Given the description of an element on the screen output the (x, y) to click on. 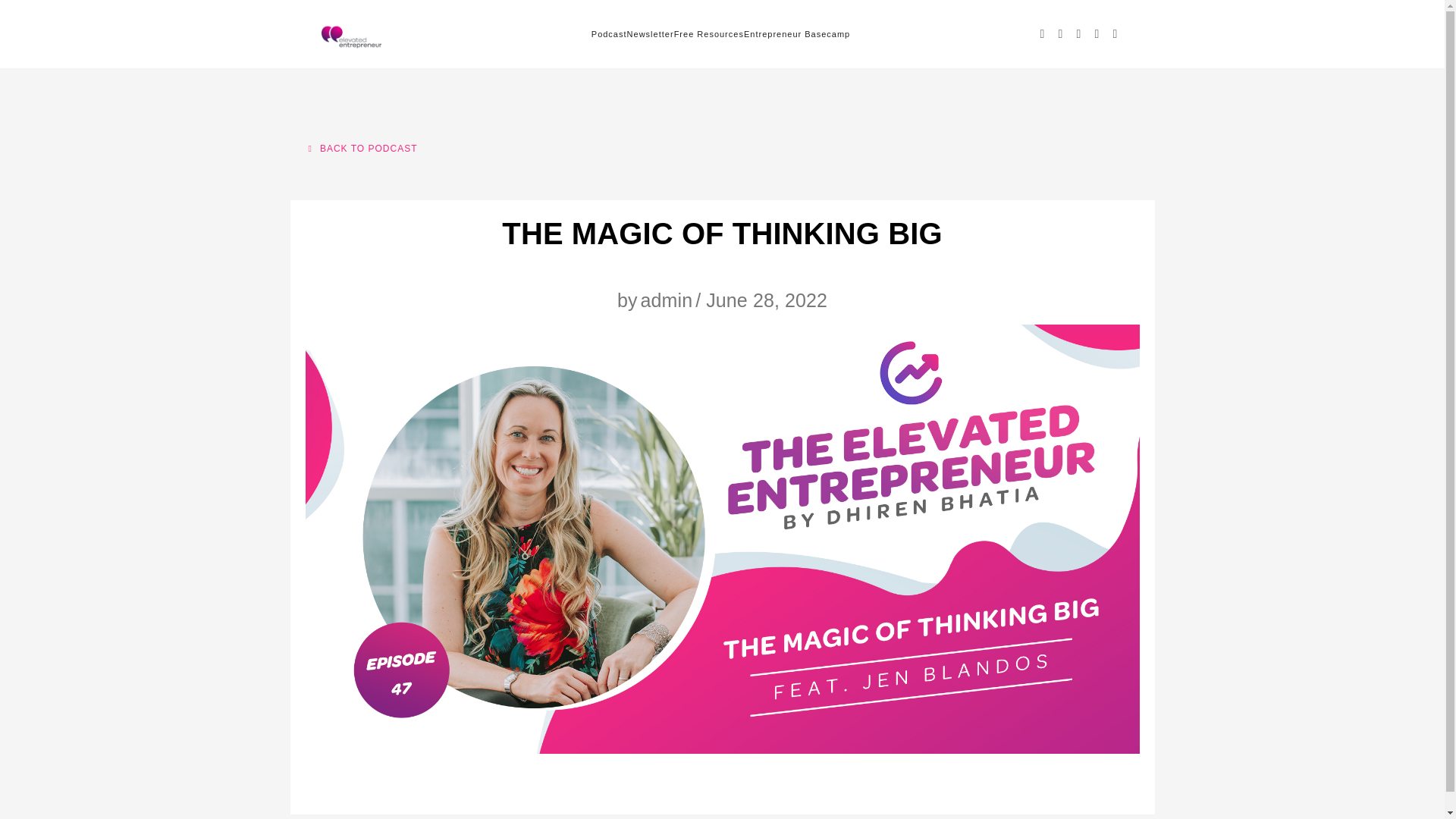
BACK TO PODCAST (362, 148)
admin (666, 300)
Free Resources (709, 33)
Entrepreneur Basecamp (797, 33)
